Given the description of an element on the screen output the (x, y) to click on. 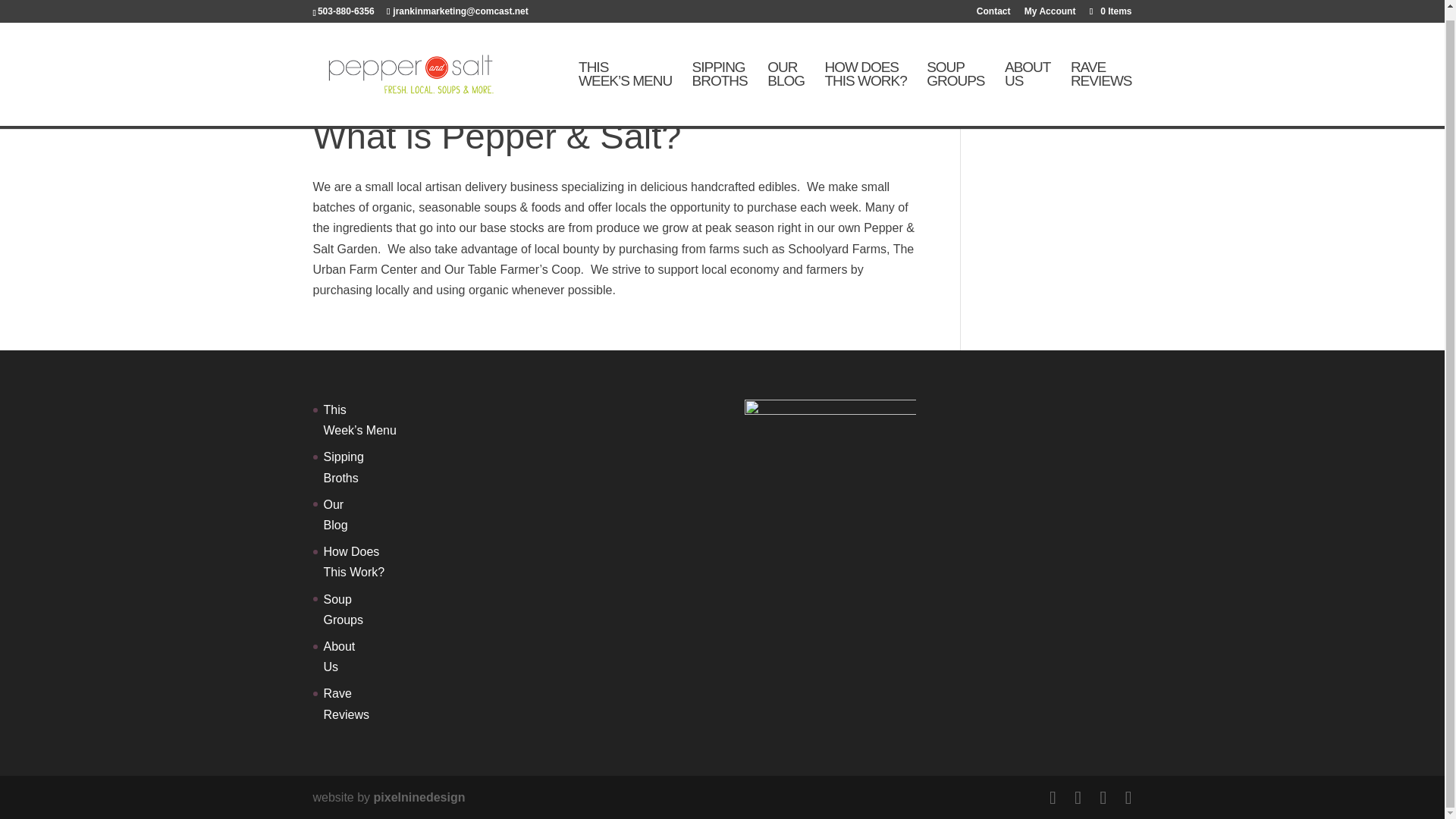
pixelninedesign (1101, 83)
My Account (864, 83)
Contact (419, 797)
0 Items (1050, 6)
